Given the description of an element on the screen output the (x, y) to click on. 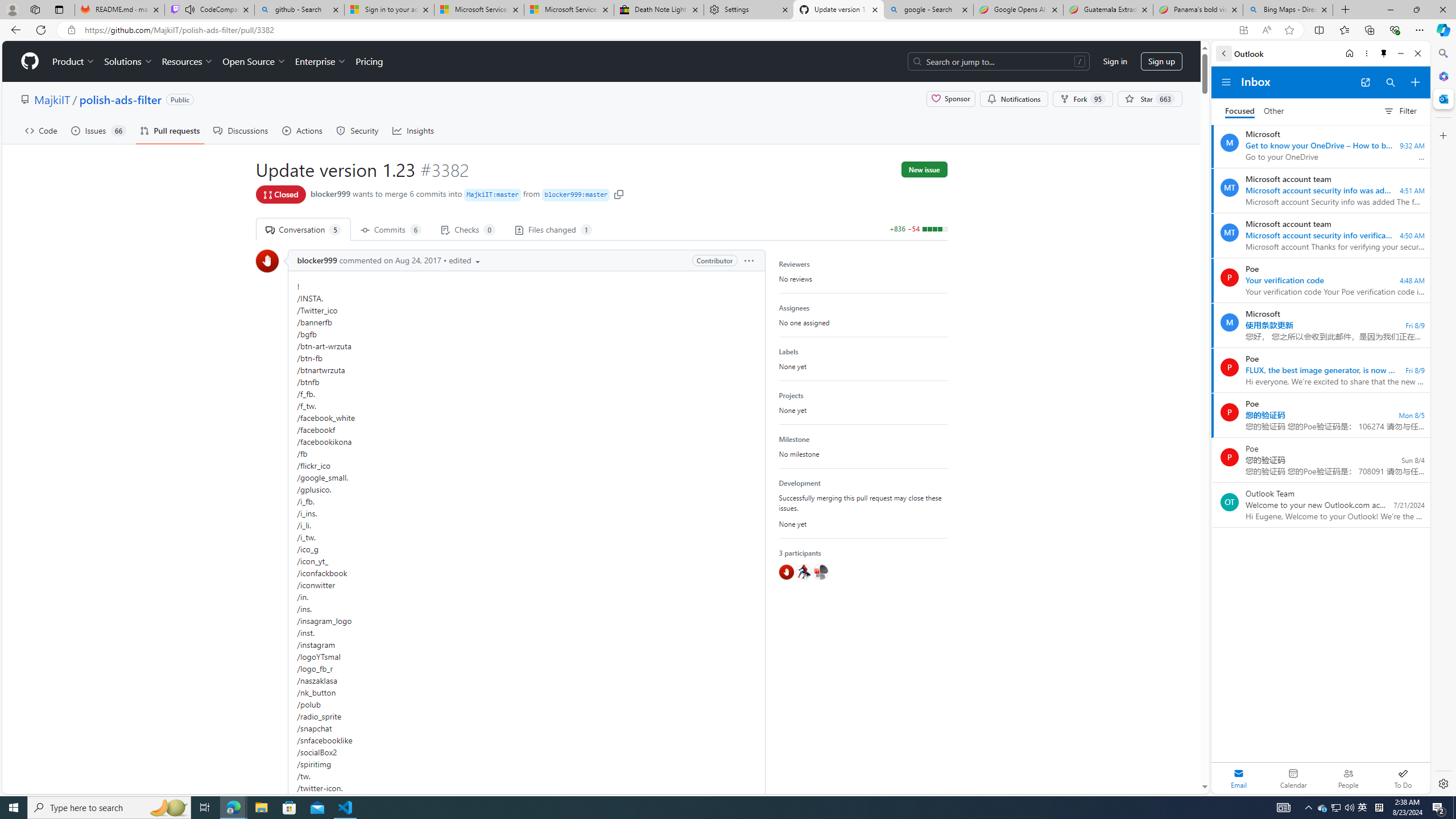
Calendar. Date today is 22 (1293, 777)
Security (357, 130)
Google Opens AI Academy for Startups - Nearshore Americas (1018, 9)
Copy (619, 193)
Pricing (368, 60)
Pull requests (170, 130)
@MajkiIT (820, 572)
Discussions (240, 130)
Code (41, 130)
